Given the description of an element on the screen output the (x, y) to click on. 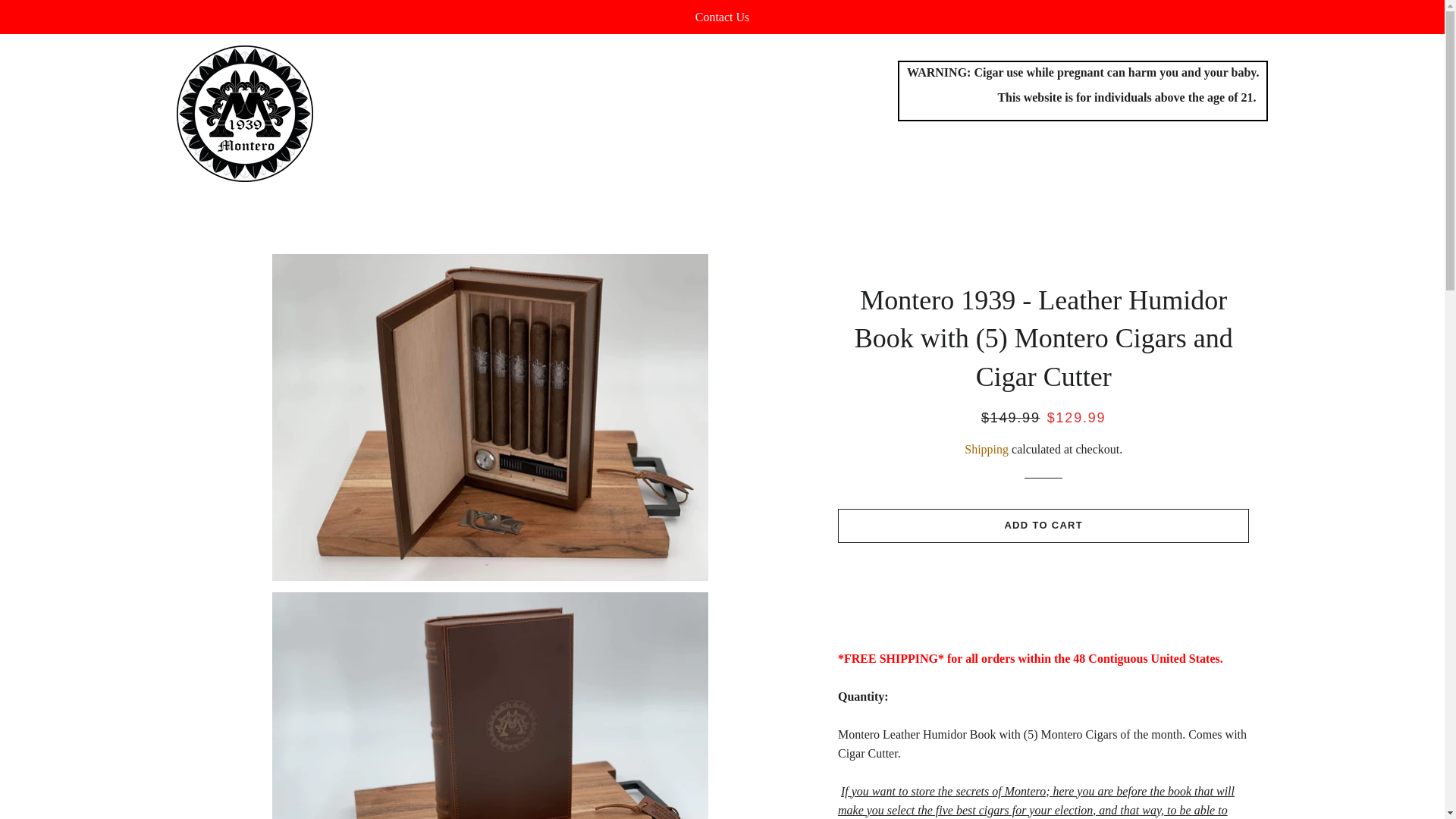
ADD TO CART (1043, 525)
Shipping (986, 449)
